Given the description of an element on the screen output the (x, y) to click on. 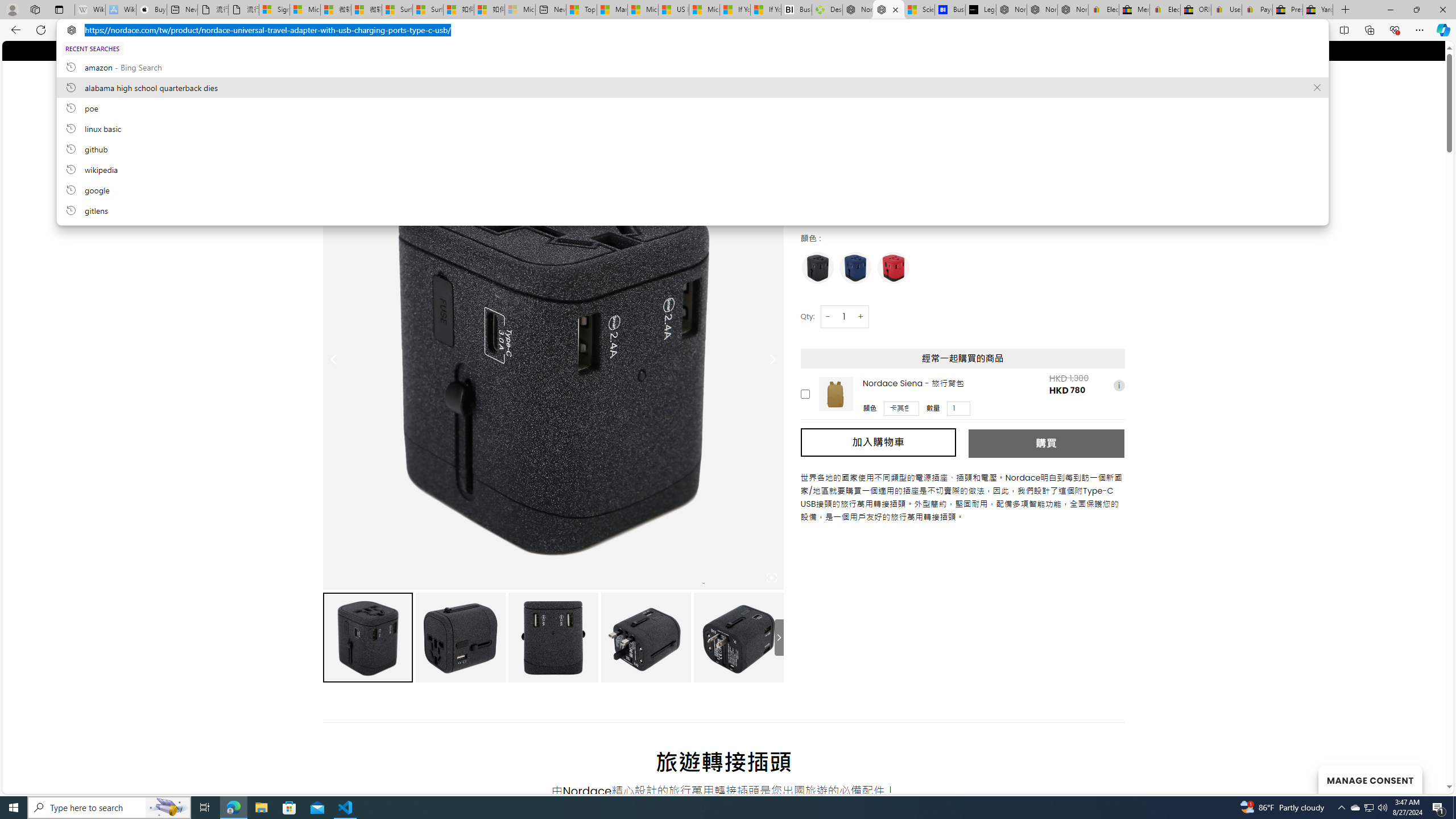
Follow on Twitter (349, 50)
Follow on Facebook (327, 50)
Descarga Driver Updater (826, 9)
